Given the description of an element on the screen output the (x, y) to click on. 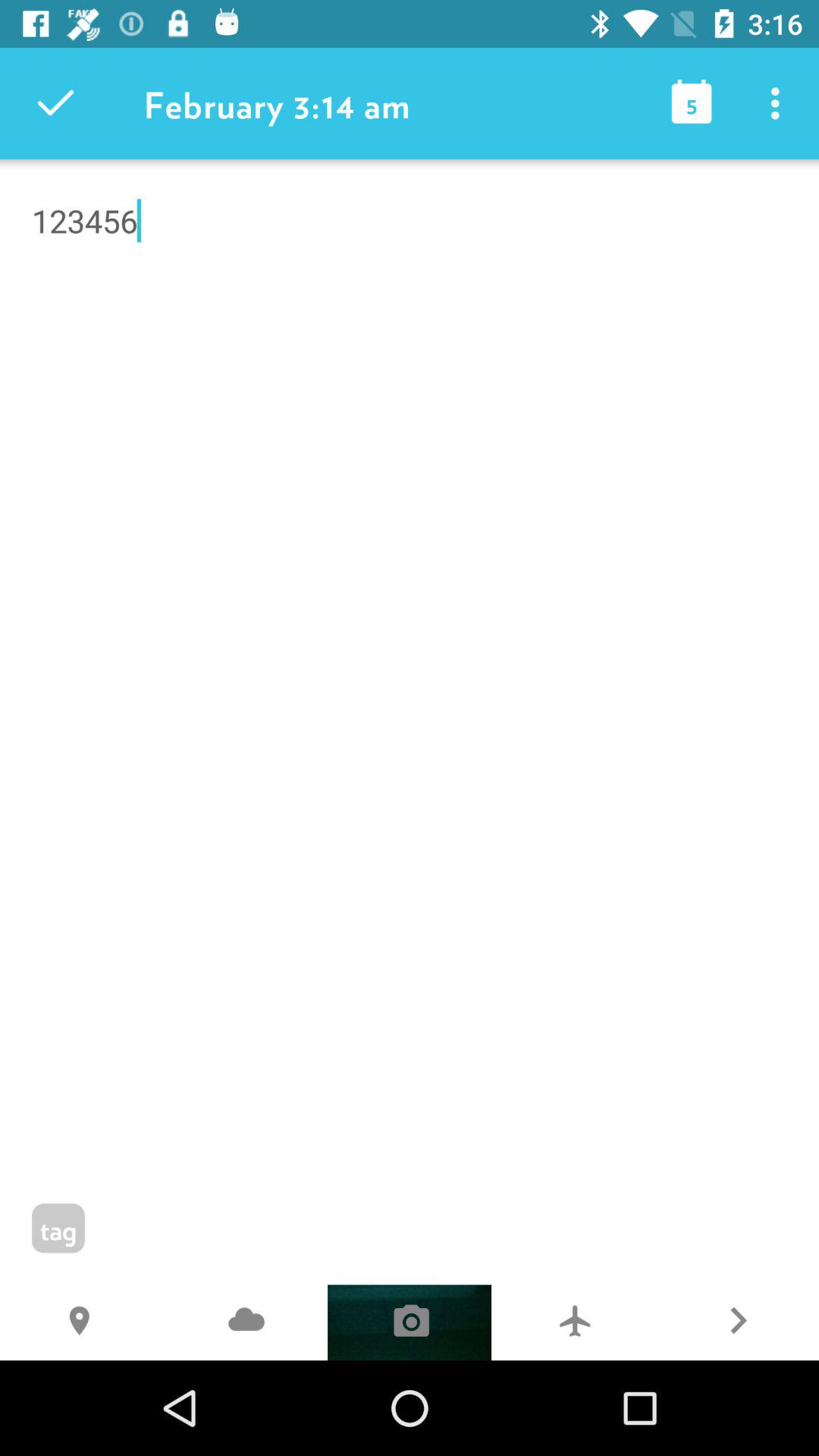
turn on the icon to the right of the 7 item (737, 1322)
